Given the description of an element on the screen output the (x, y) to click on. 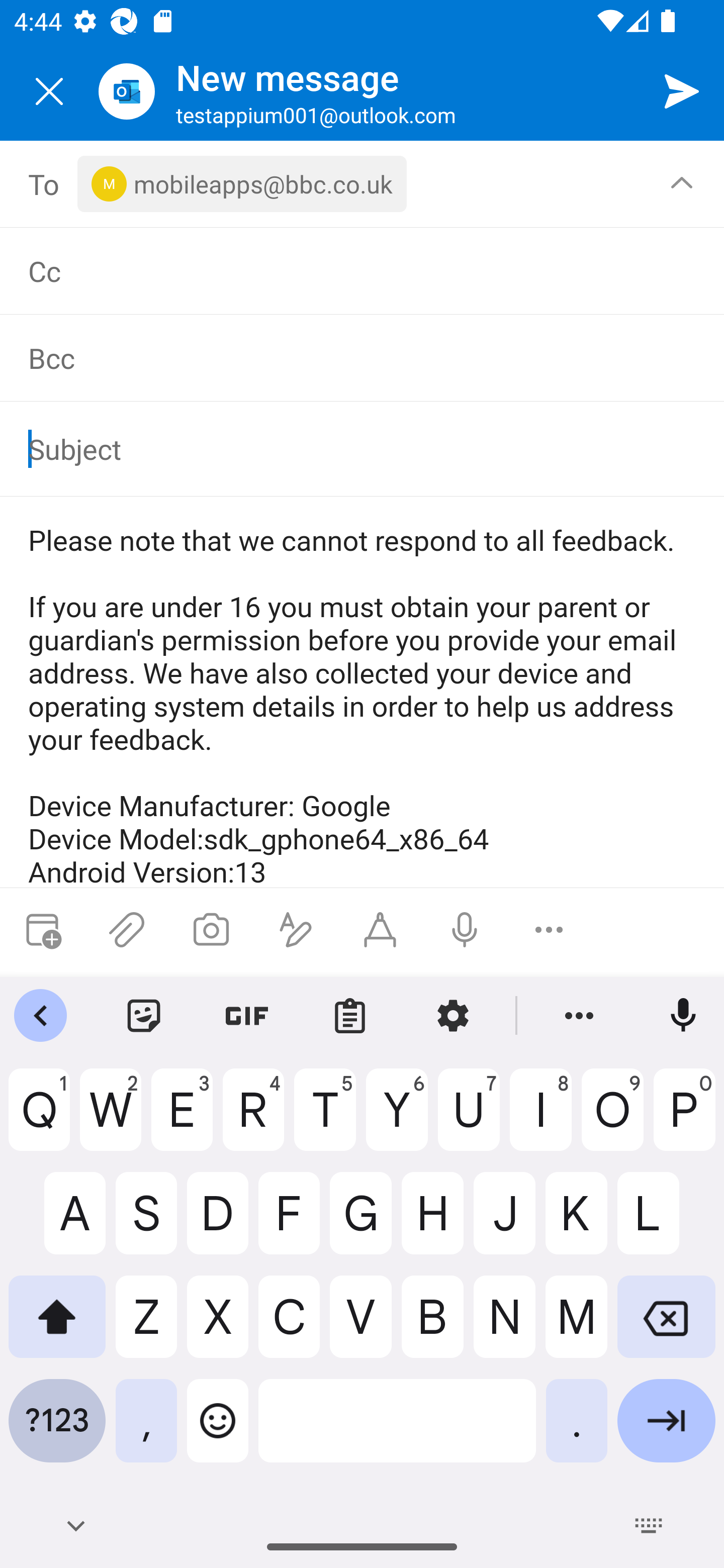
Close (49, 91)
Send (681, 90)
To, 1 recipient <mobileapps@bbc.co.uk> (362, 184)
Subject (347, 448)
Attach meeting (42, 929)
Attach files (126, 929)
Take a photo (210, 929)
Show formatting options (295, 929)
Start Ink compose (380, 929)
Dictation (464, 929)
More options (548, 929)
